Given the description of an element on the screen output the (x, y) to click on. 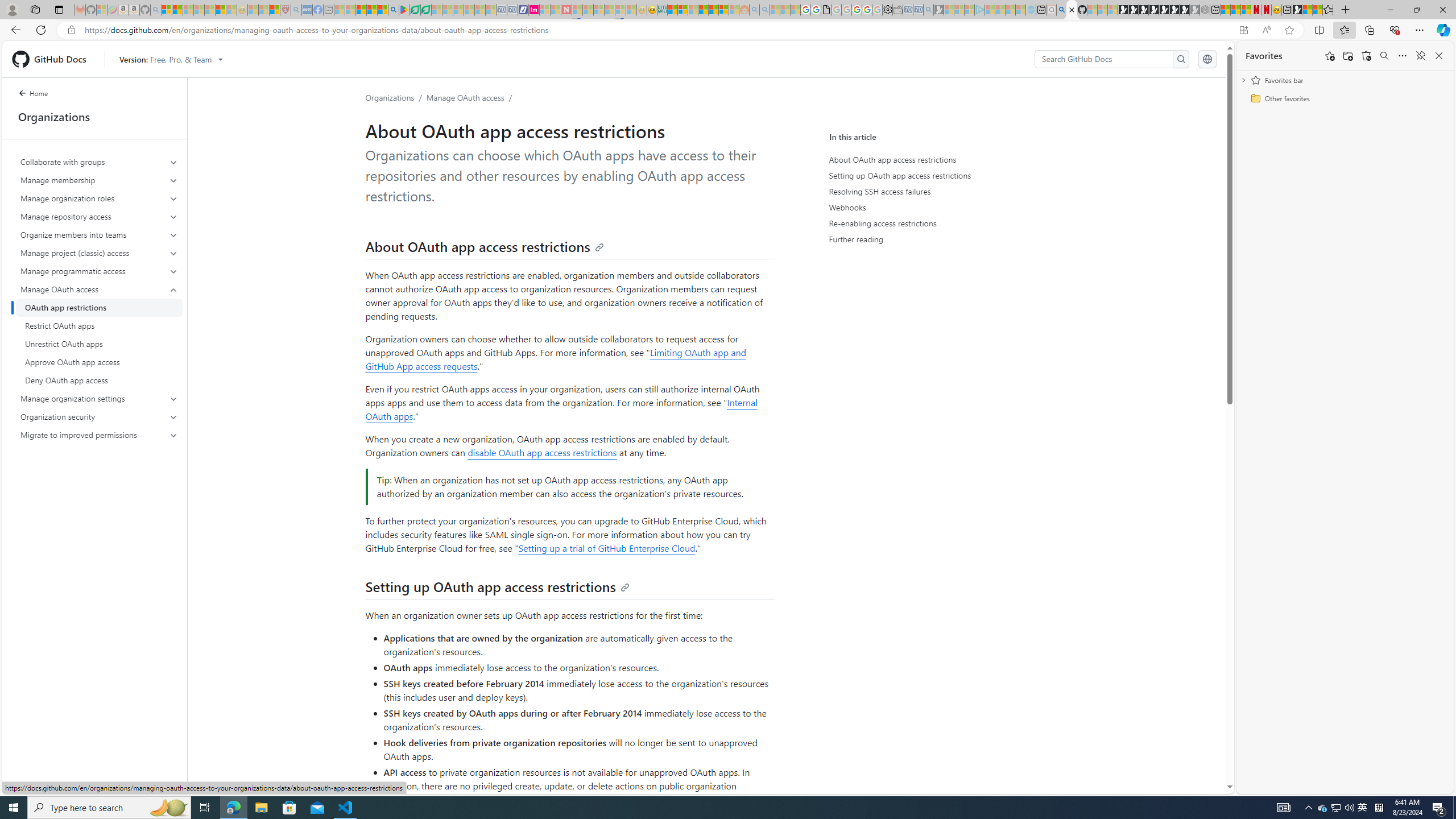
Unrestrict OAuth apps (99, 343)
Restrict OAuth apps (99, 325)
Unrestrict OAuth apps (99, 343)
Webhooks (933, 207)
App available. Install GitHub Docs (1243, 29)
